Given the description of an element on the screen output the (x, y) to click on. 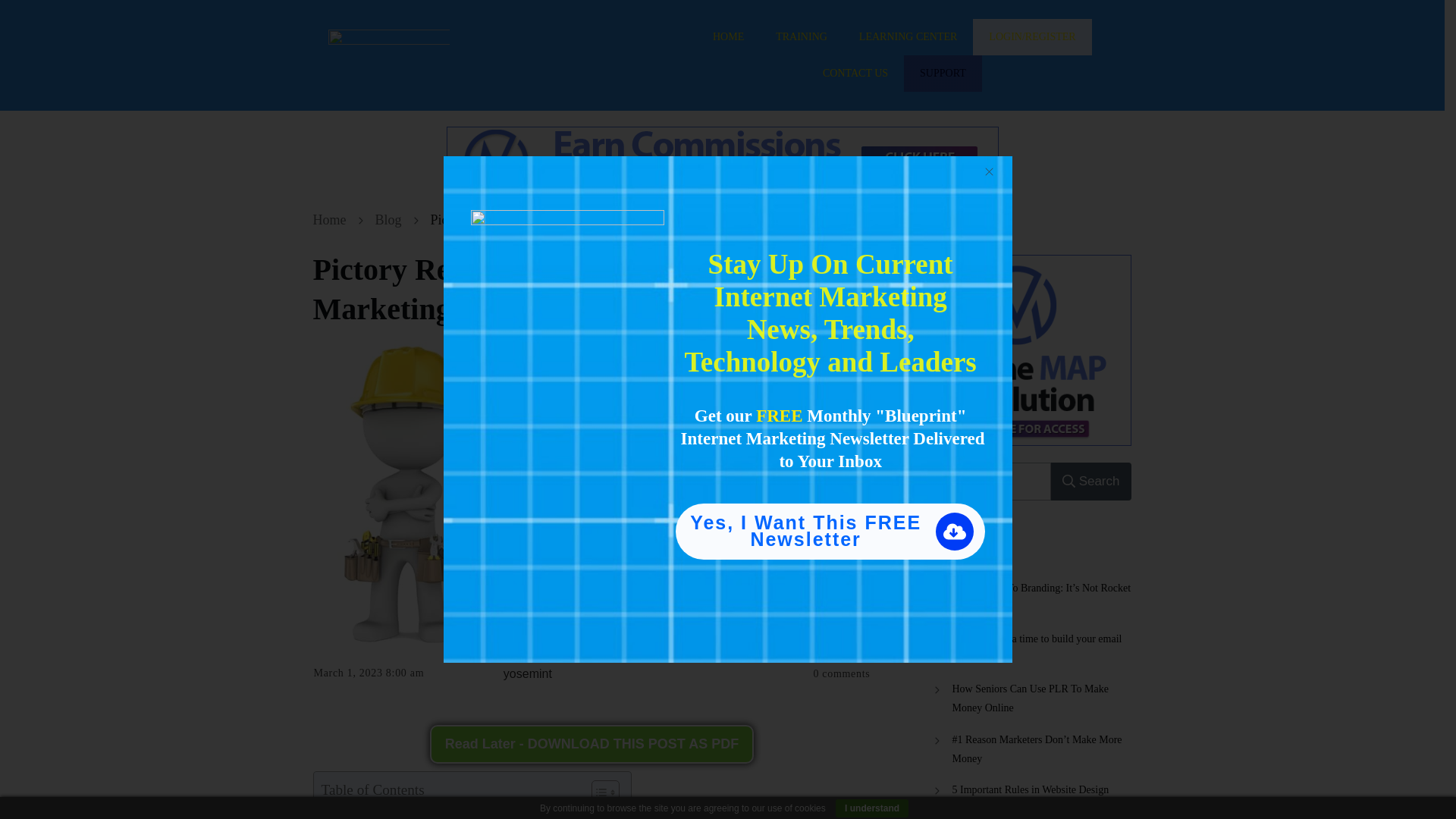
Search (1091, 481)
HOME (728, 36)
LEARNING CENTER (908, 36)
SUPPORT (943, 73)
How Seniors Can Use PLR To Make Money Online (1041, 698)
Pictory Review: The Ultimate Video Marketing Game-Changer! (545, 288)
Pictory Review: The Ultimate Video Marketing Game-Changer! (545, 288)
Our Honest Pictory Review (418, 812)
CONTACT US (855, 73)
